Given the description of an element on the screen output the (x, y) to click on. 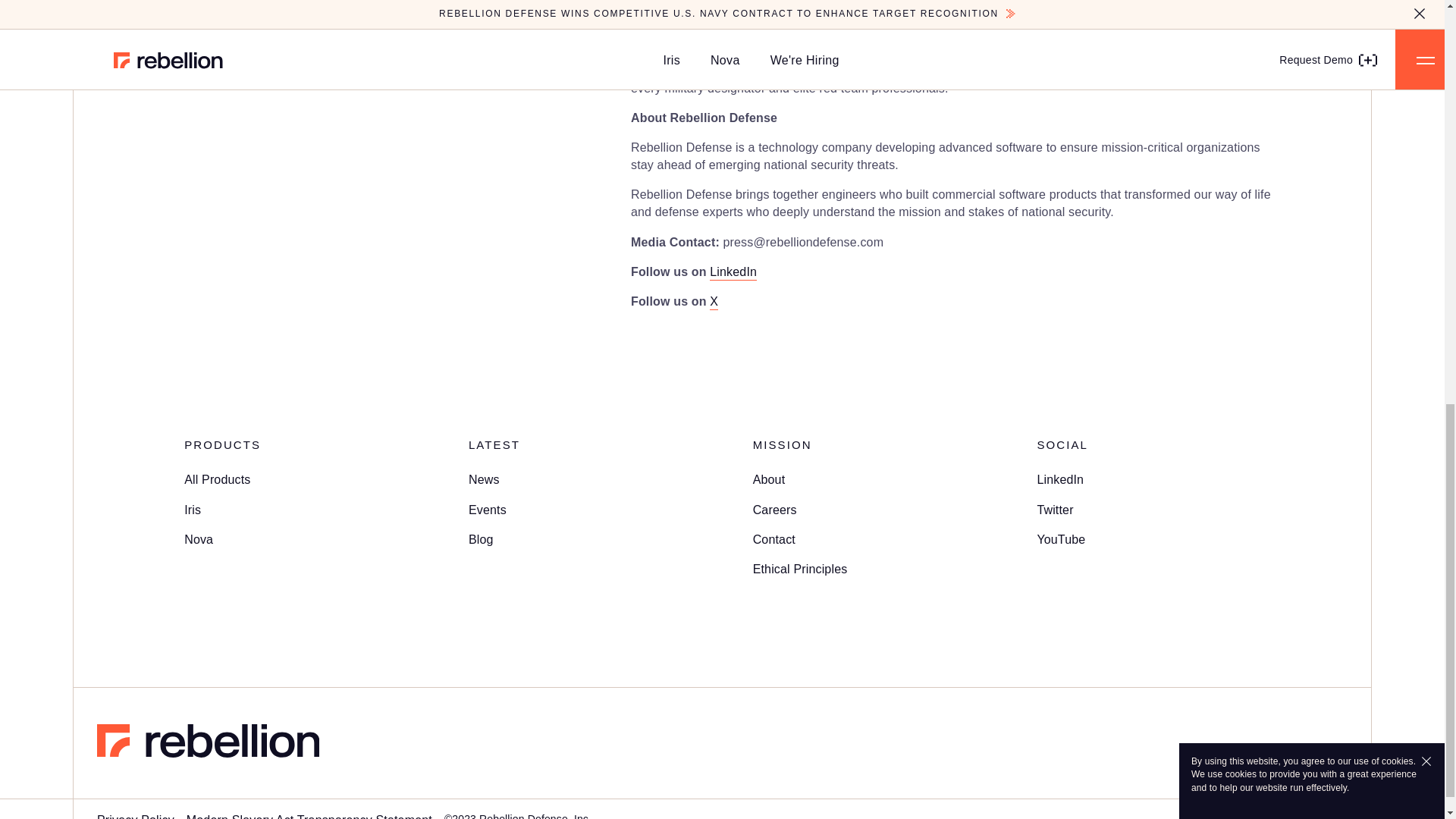
Events (487, 509)
About (769, 479)
News (483, 479)
Careers (774, 509)
LinkedIn (1059, 479)
Blog (480, 539)
LinkedIn (733, 271)
All Products (217, 479)
Ethical Principles (799, 568)
Iris (192, 509)
